Given the description of an element on the screen output the (x, y) to click on. 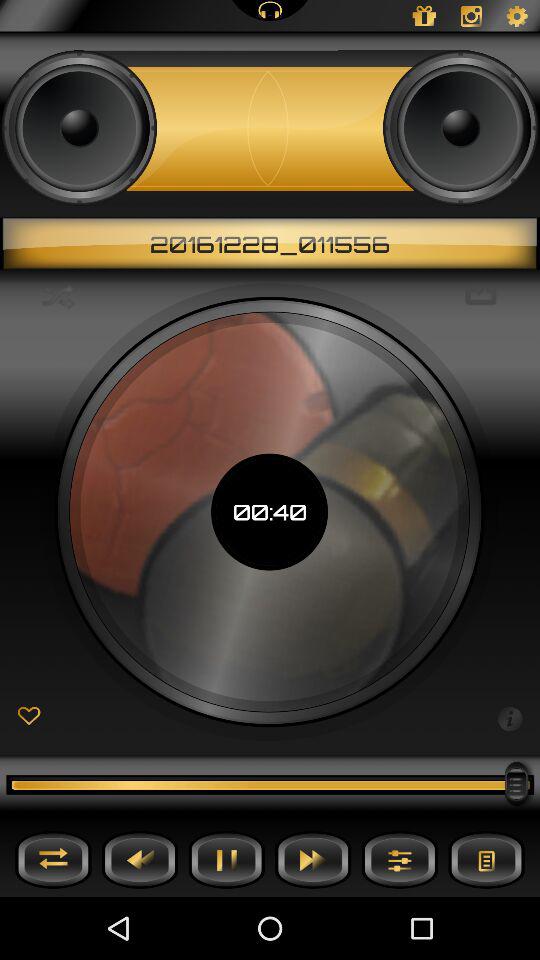
skip ahead (313, 859)
